Given the description of an element on the screen output the (x, y) to click on. 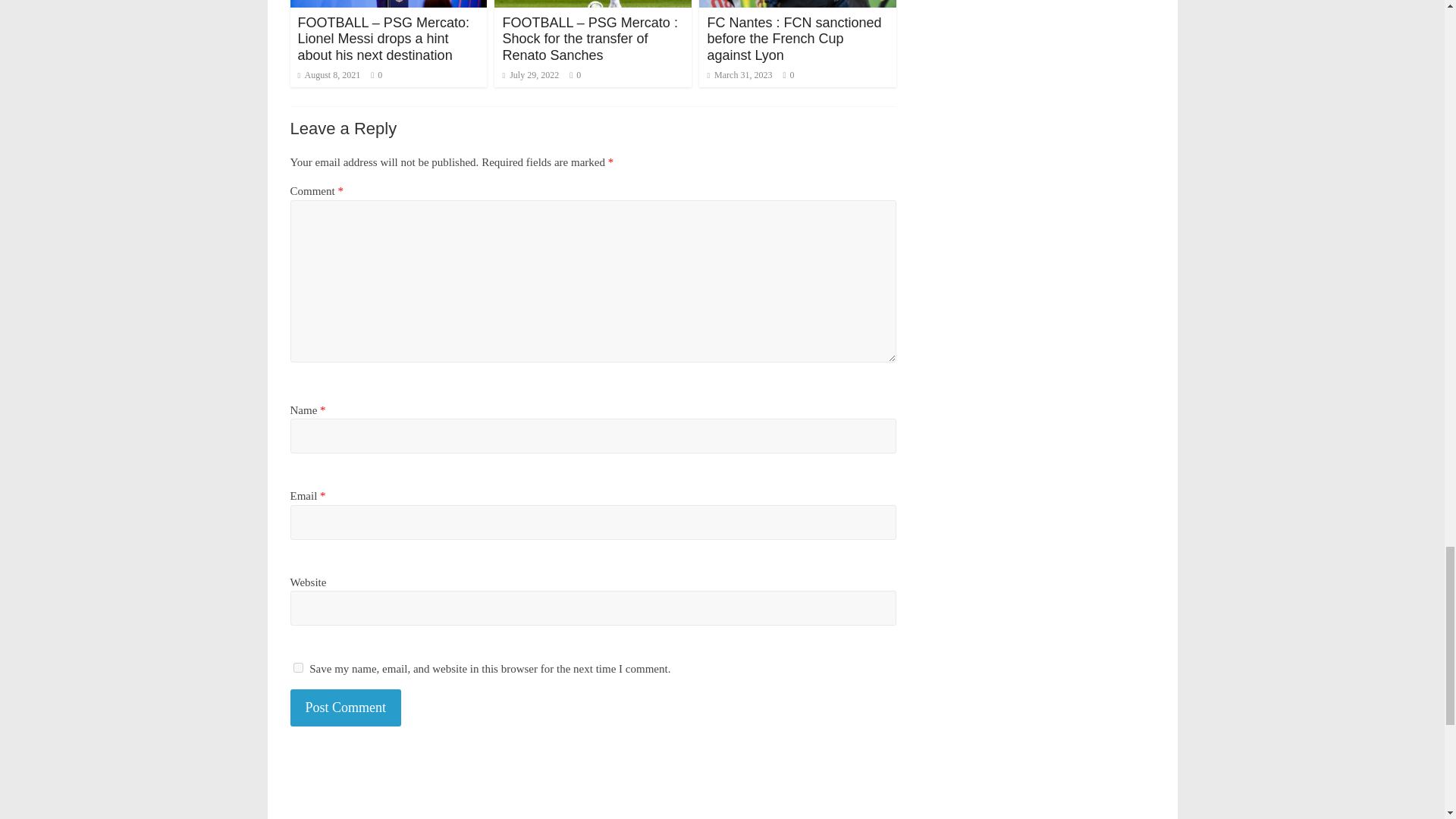
August 8, 2021 (328, 74)
Post Comment (345, 707)
yes (297, 667)
